Given the description of an element on the screen output the (x, y) to click on. 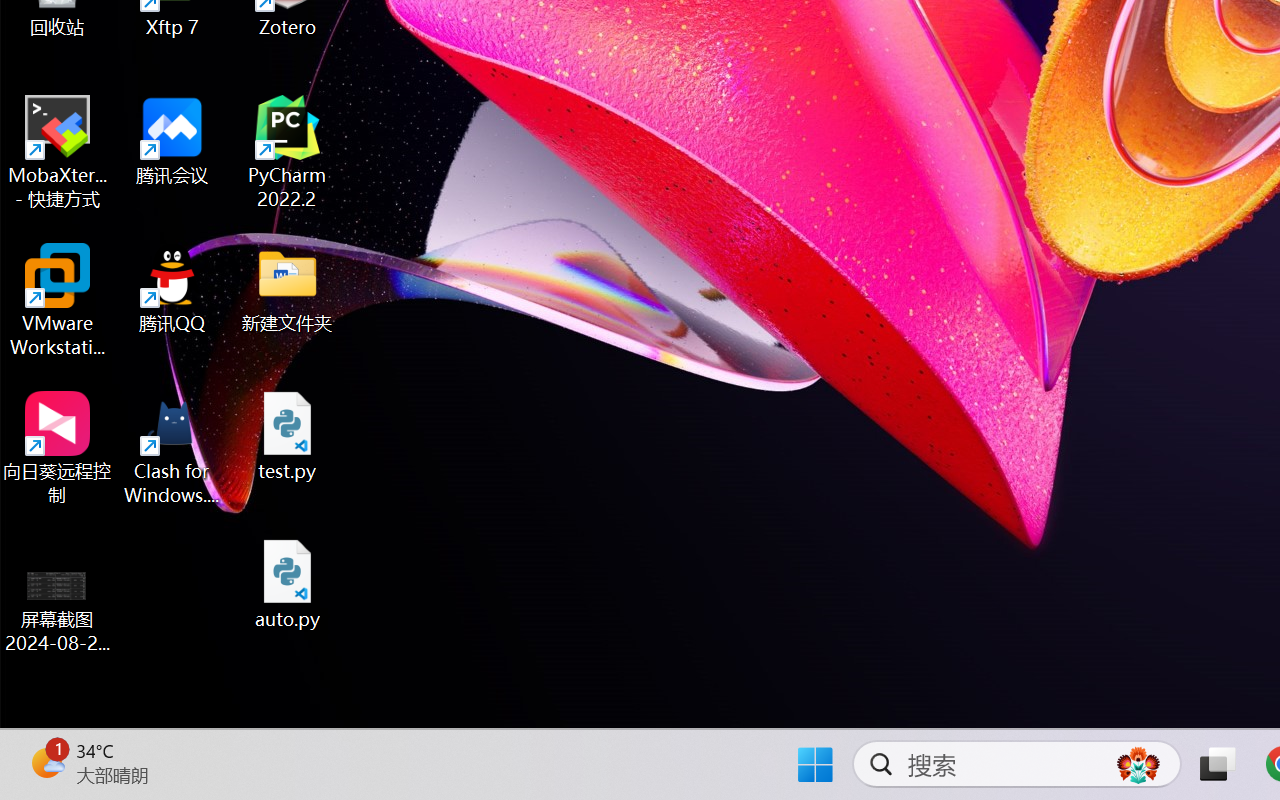
VMware Workstation Pro (57, 300)
